Given the description of an element on the screen output the (x, y) to click on. 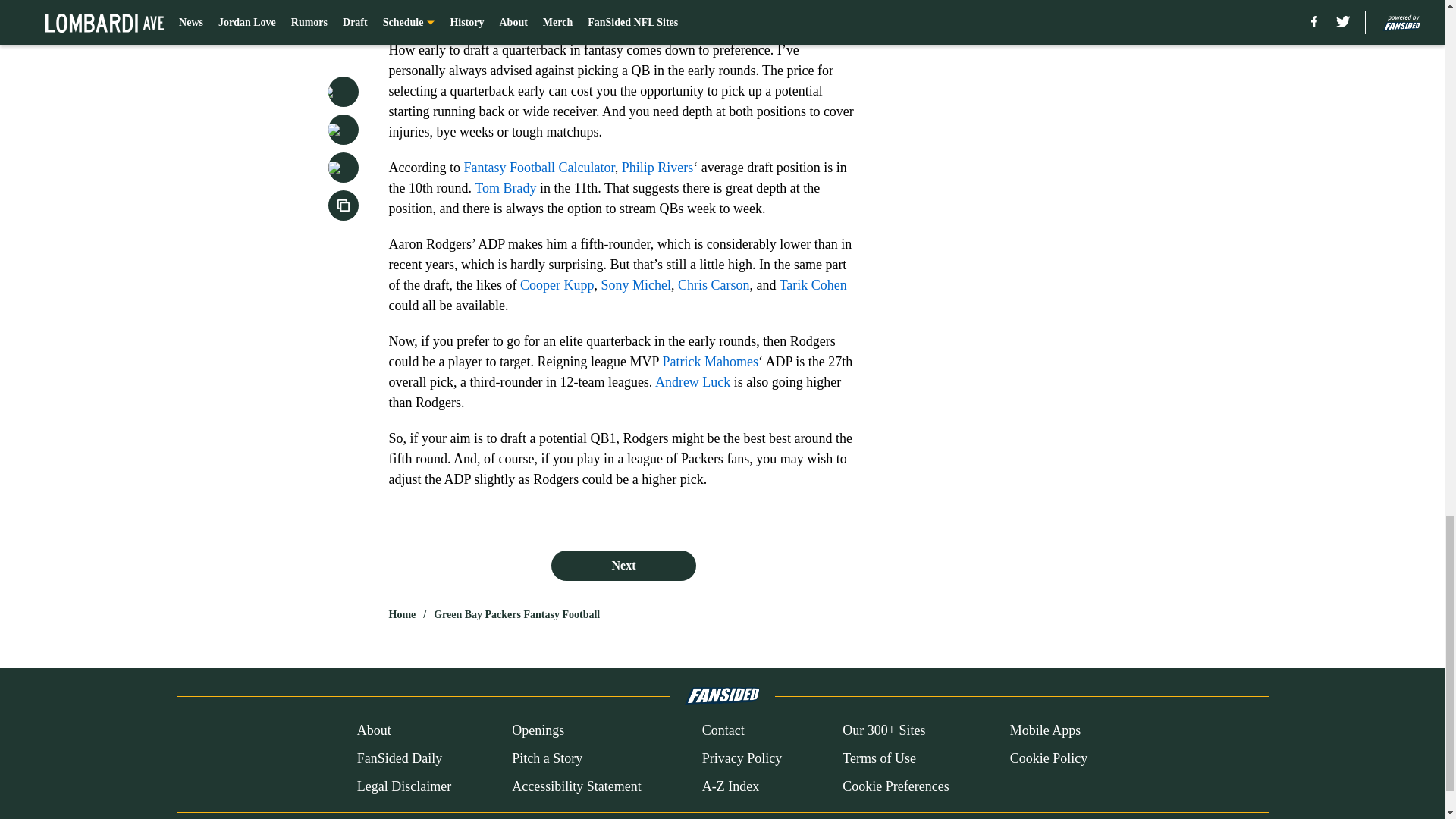
Home (401, 614)
Green Bay Packers Fantasy Football (516, 614)
Andrew Luck (692, 381)
Cooper Kupp (556, 284)
Chris Carson (713, 284)
Contact (722, 730)
About (373, 730)
Tom Brady (504, 187)
Openings (538, 730)
Sony Michel (635, 284)
